Given the description of an element on the screen output the (x, y) to click on. 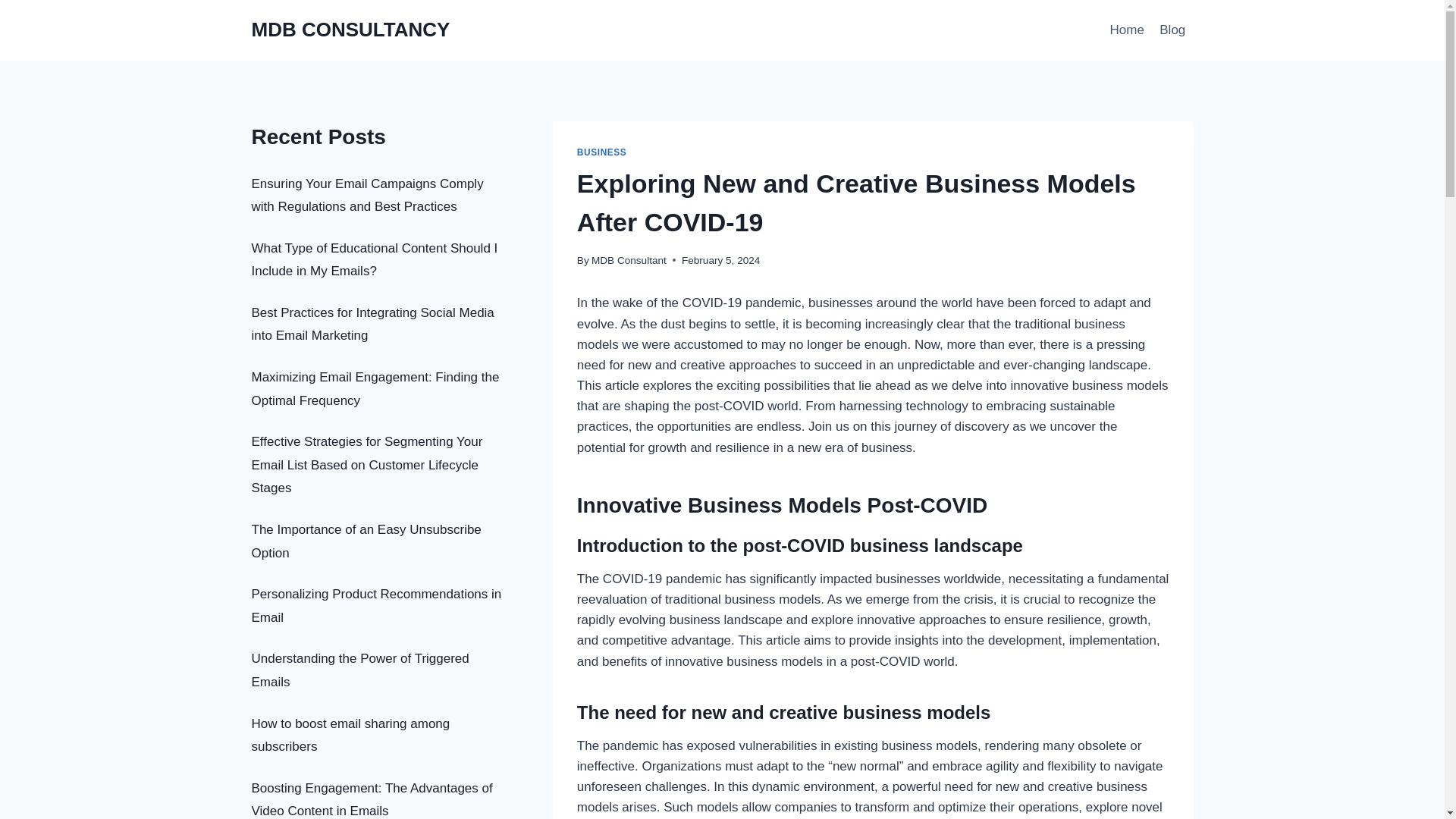
MDB CONSULTANCY (350, 29)
BUSINESS (601, 152)
MDB Consultant (628, 260)
Blog (1171, 30)
Home (1126, 30)
